Given the description of an element on the screen output the (x, y) to click on. 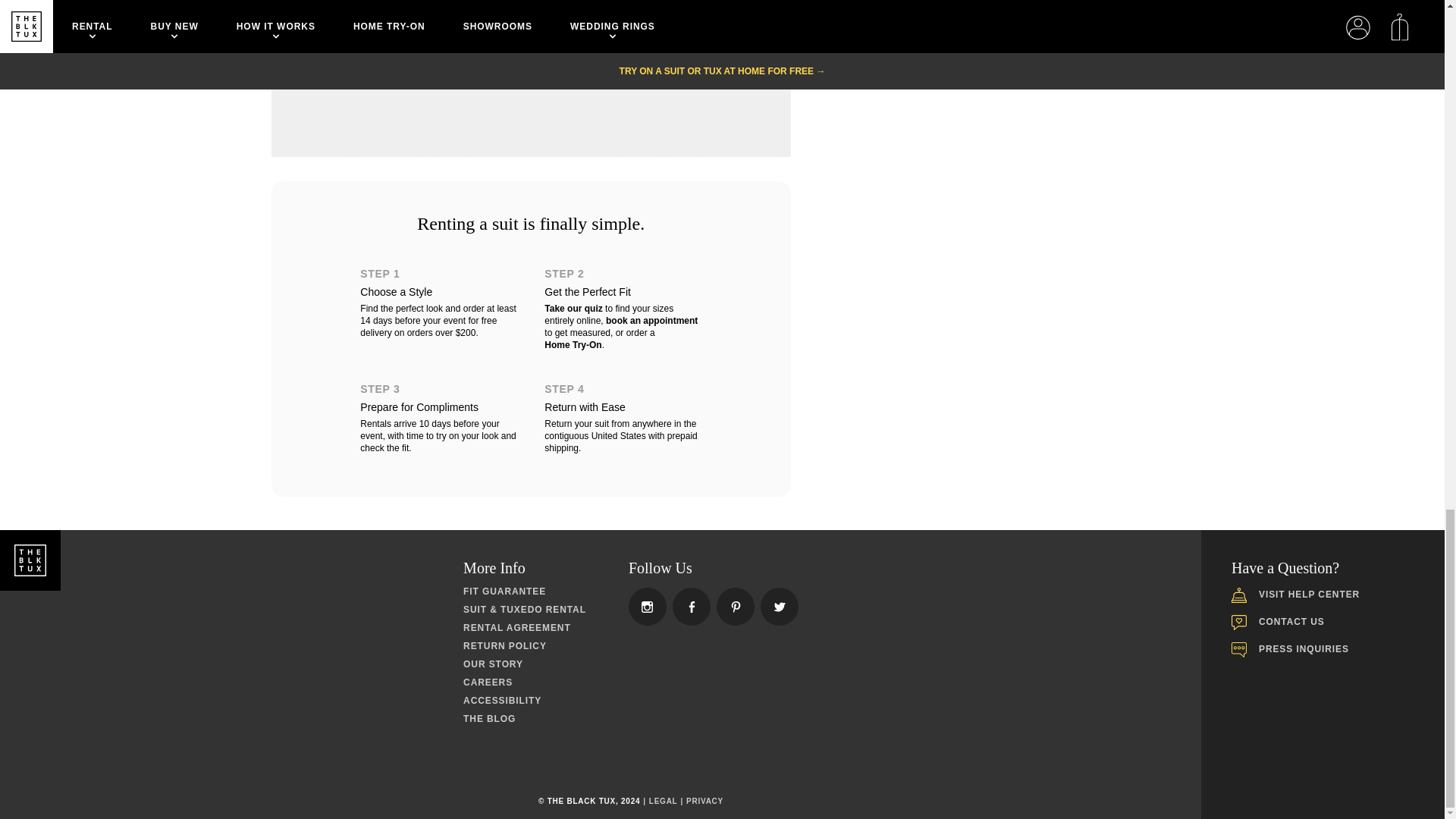
Instagram (646, 606)
Instagram (691, 606)
Instagram (735, 606)
Instagram (779, 606)
